Given the description of an element on the screen output the (x, y) to click on. 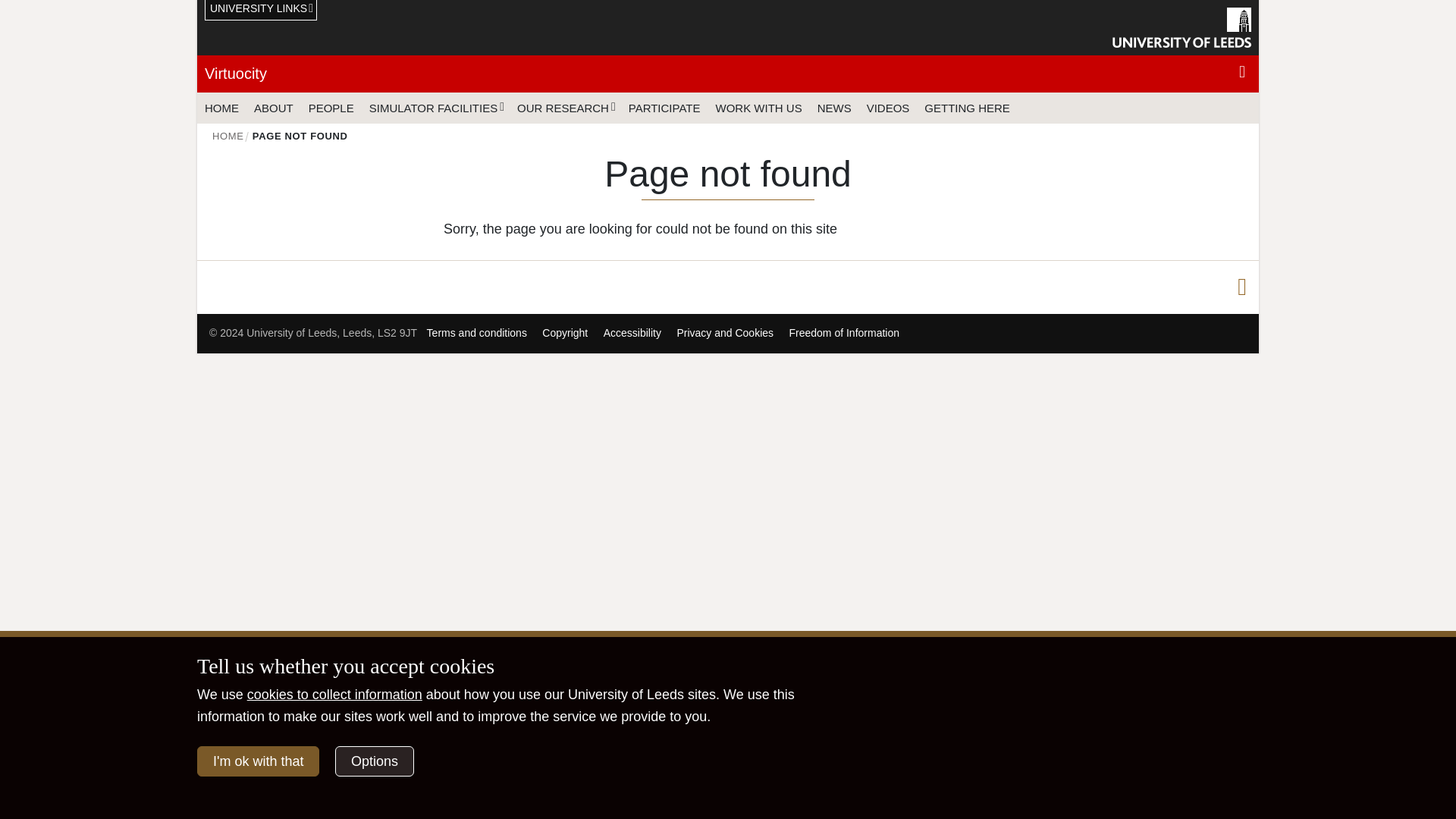
Virtuocity (235, 73)
Go to Twitter page (1241, 287)
University of Leeds home page (1181, 26)
UNIVERSITY LINKS (261, 10)
